Given the description of an element on the screen output the (x, y) to click on. 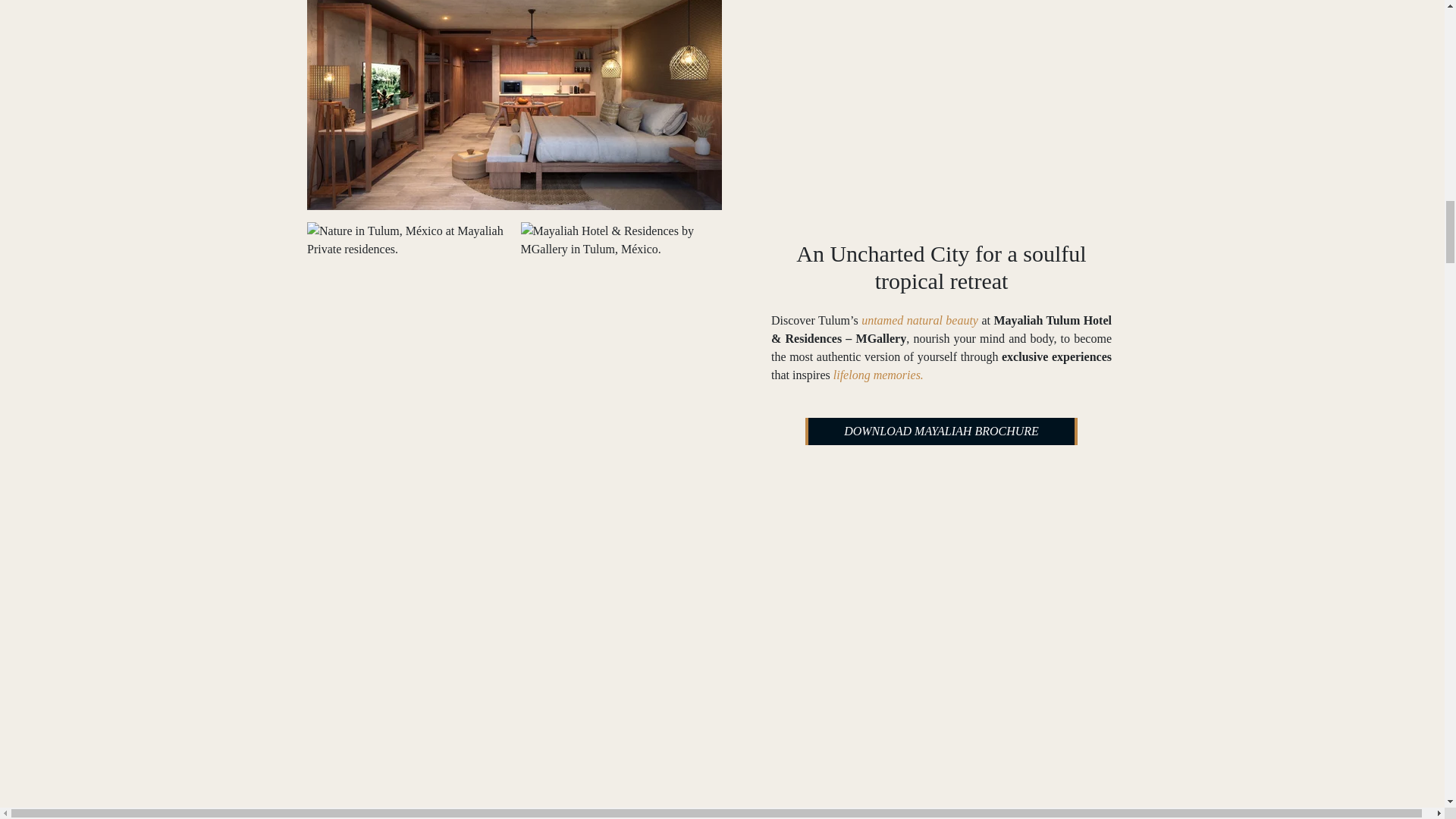
DOWNLOAD MAYALIAH BROCHURE (941, 430)
Mayaliah Residences in Tulum (620, 239)
Mayaliah Tulum Residences by MGallery. (514, 104)
